Given the description of an element on the screen output the (x, y) to click on. 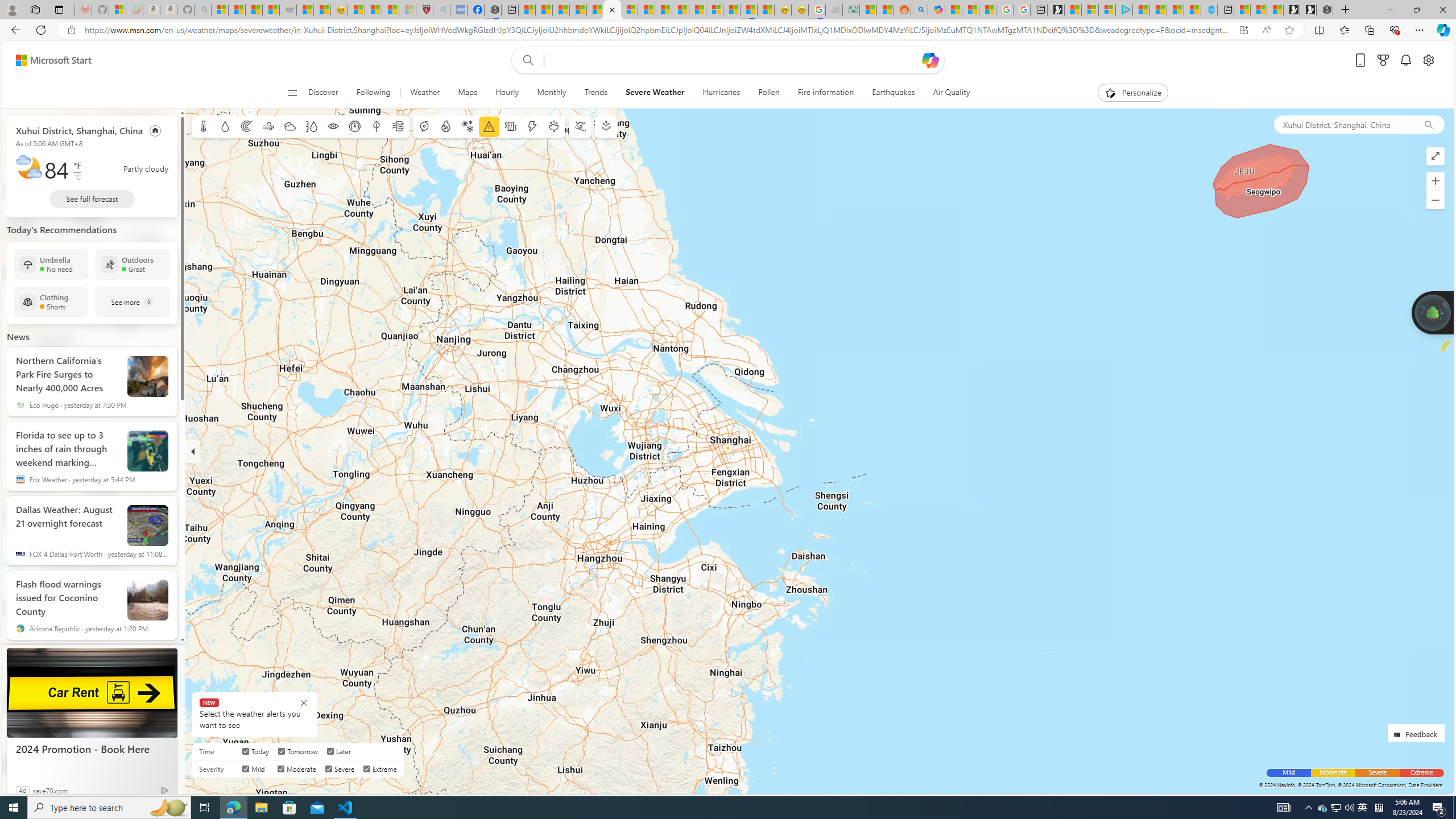
Monthly (551, 92)
Severe weather (489, 126)
Hide (192, 450)
Maps (467, 92)
Earthquake (510, 126)
Hurricanes (721, 92)
Temperature (203, 126)
